Given the description of an element on the screen output the (x, y) to click on. 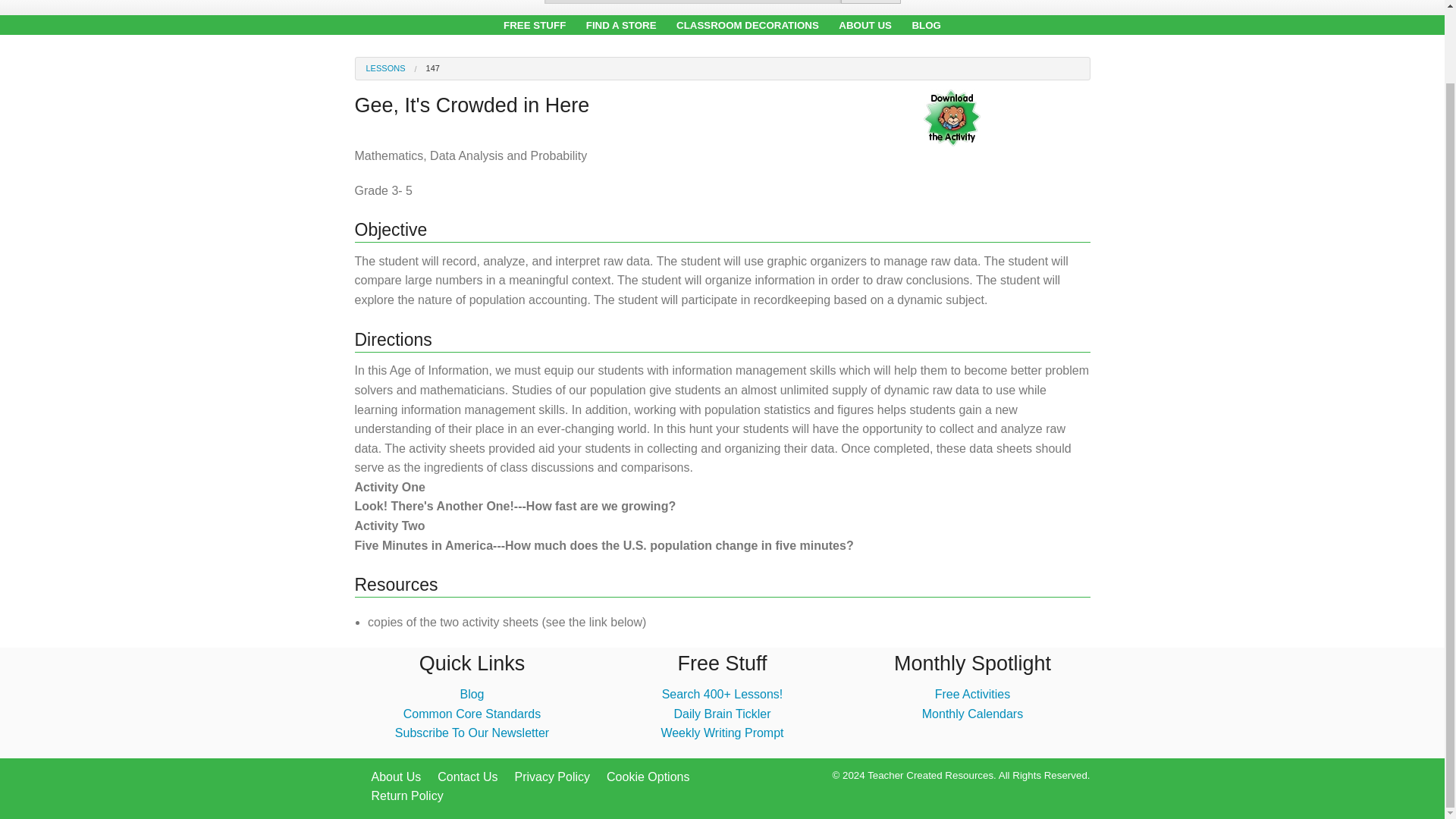
Free Activities (972, 694)
LESSONS (384, 67)
Weekly Writing Prompt (722, 732)
Privacy Policy (551, 777)
BLOG (925, 25)
FIND A STORE (621, 25)
Cookie Options (647, 777)
Subscribe To Our Newsletter (471, 732)
CLASSROOM DECORATIONS (747, 25)
About Us (396, 777)
